Given the description of an element on the screen output the (x, y) to click on. 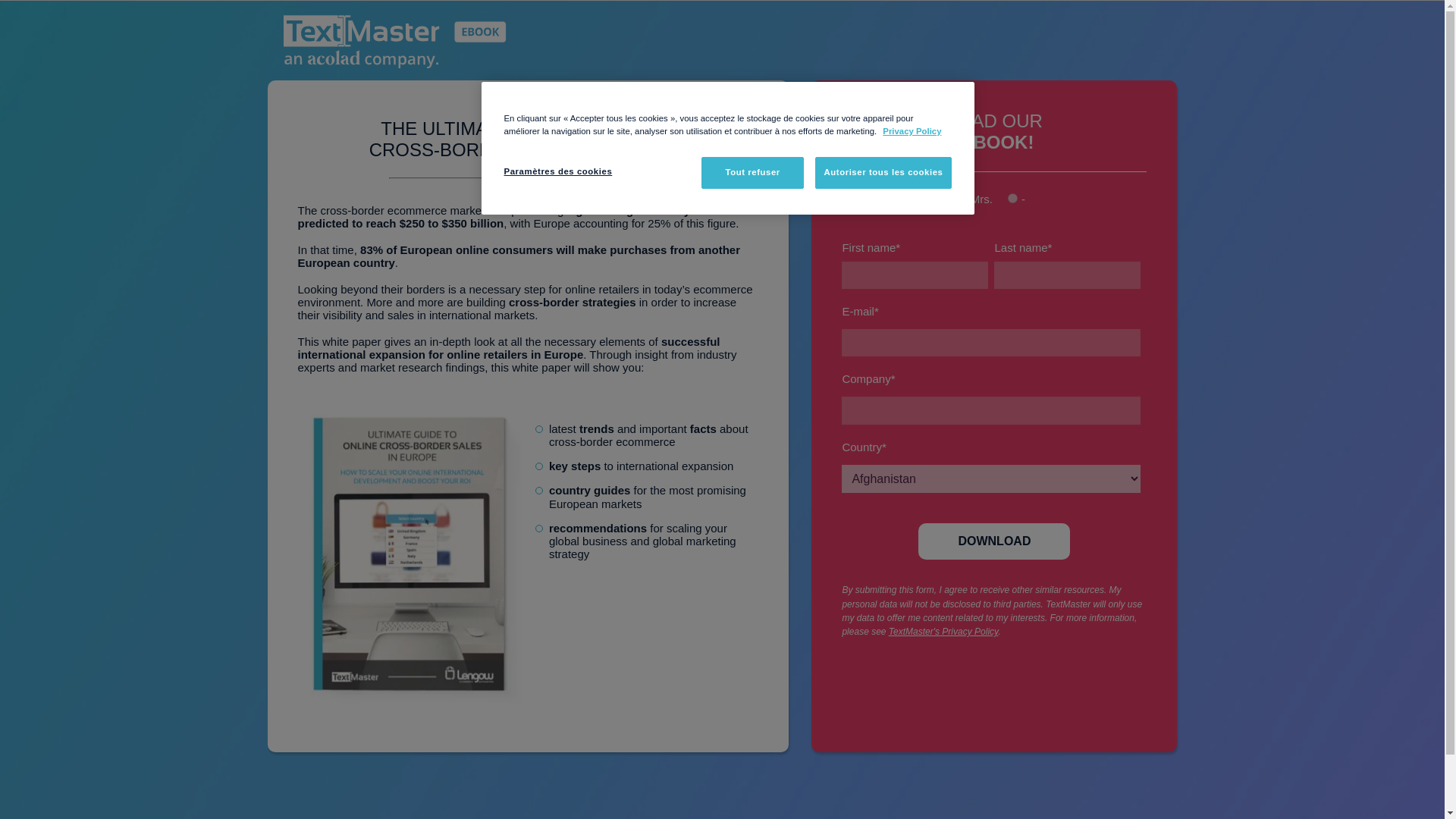
Download (994, 541)
Mrs. (961, 198)
Autoriser tous les cookies (882, 173)
- (1012, 198)
Privacy Policy (911, 130)
Tout refuser (752, 173)
Mr. (916, 198)
Download (994, 541)
TextMaster's Privacy Policy (942, 631)
tm-acolad-ebook-white (395, 43)
